Given the description of an element on the screen output the (x, y) to click on. 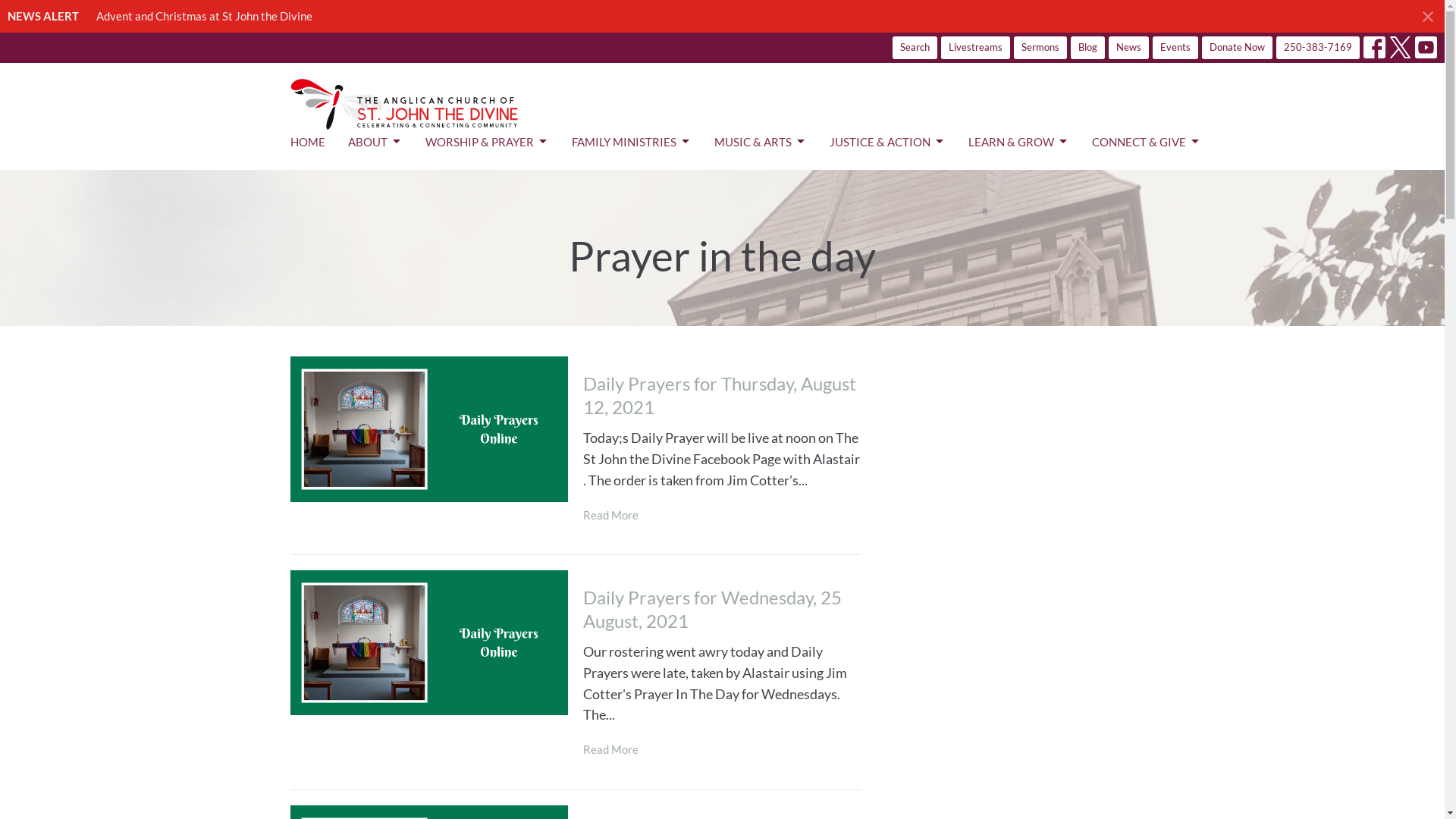
Donate Now Element type: text (1236, 47)
FAMILY MINISTRIES Element type: text (631, 141)
Livestreams Element type: text (975, 47)
Advent and Christmas at St John the Divine Element type: text (204, 15)
250-383-7169 Element type: text (1317, 47)
Events Element type: text (1175, 47)
LEARN & GROW Element type: text (1017, 141)
MUSIC & ARTS Element type: text (760, 141)
News Element type: text (1128, 47)
JUSTICE & ACTION Element type: text (887, 141)
Sermons Element type: text (1039, 47)
HOME Element type: text (306, 141)
Blog Element type: text (1087, 47)
Search Element type: text (914, 47)
WORSHIP & PRAYER Element type: text (486, 141)
ABOUT Element type: text (374, 141)
CONNECT & GIVE Element type: text (1146, 141)
